Given the description of an element on the screen output the (x, y) to click on. 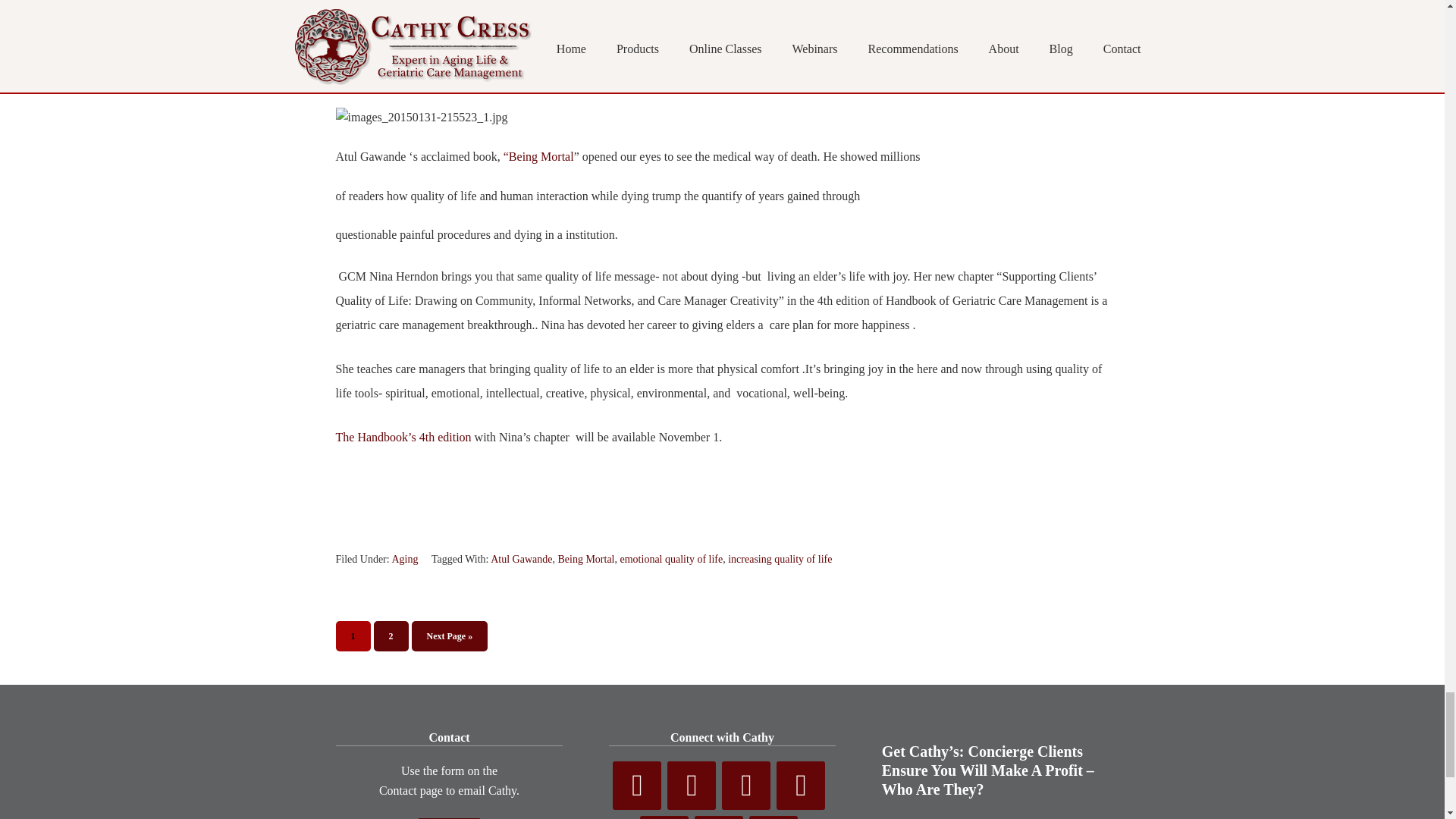
Facebook (636, 785)
Pinterest (800, 785)
LinkedIn (664, 817)
YouTube (746, 785)
Twitter (691, 785)
Newsletter (718, 817)
